Given the description of an element on the screen output the (x, y) to click on. 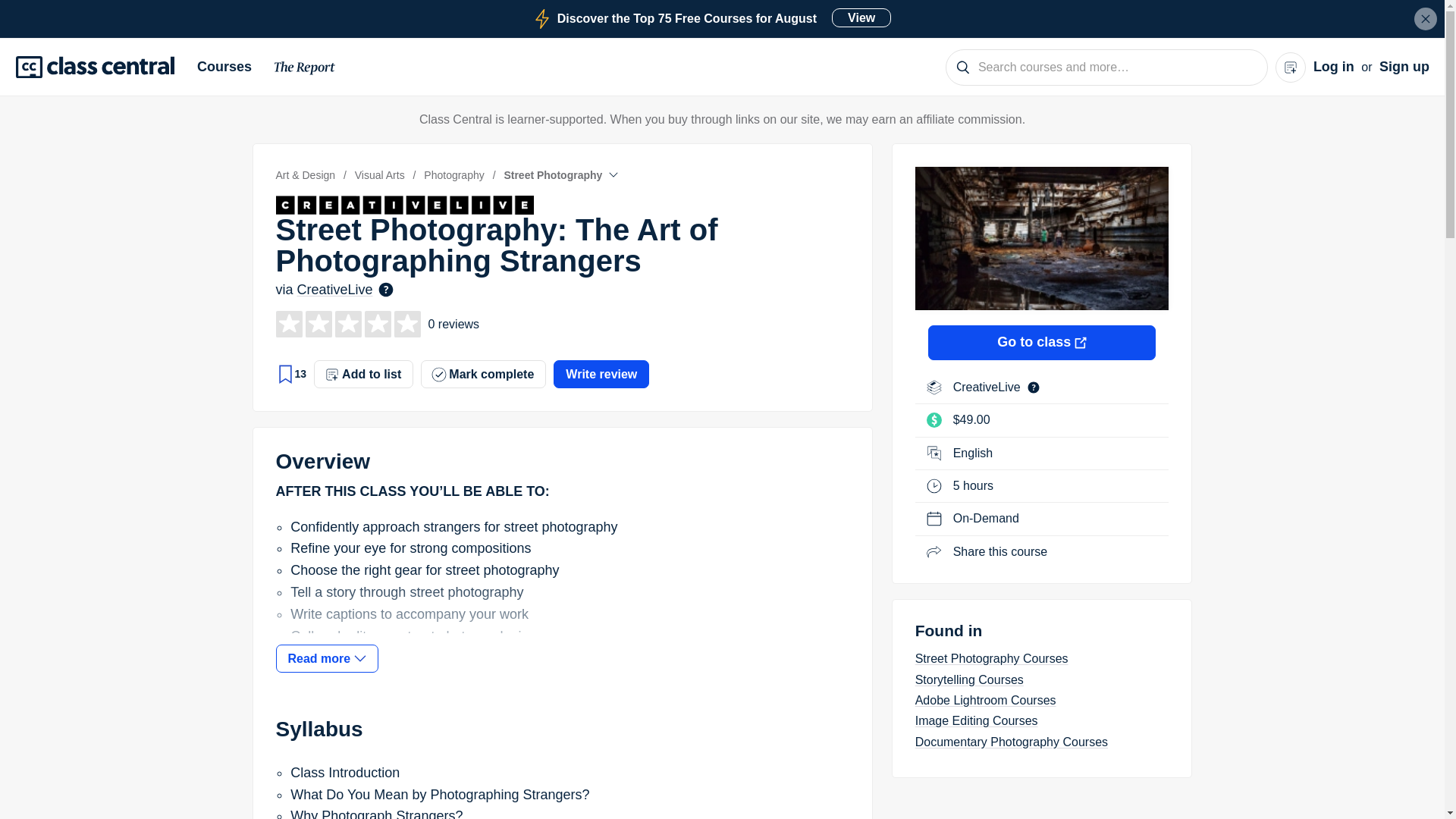
List of CreativeLive MOOCs (562, 204)
The Report (304, 69)
List of CreativeLive MOOCs (988, 386)
Courses (711, 18)
Close (229, 66)
